Given the description of an element on the screen output the (x, y) to click on. 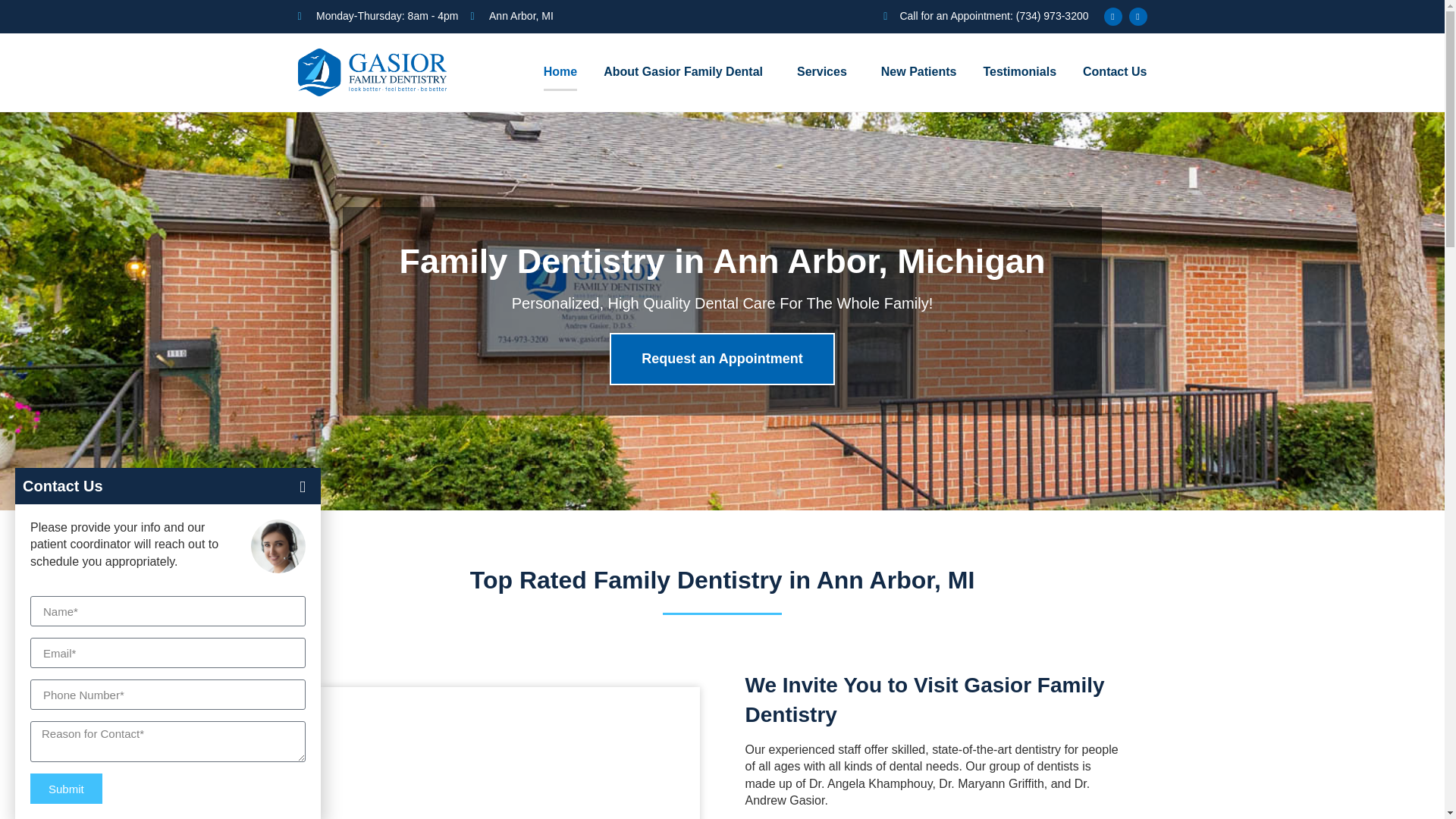
Testimonials (1019, 72)
Home (559, 72)
New Patients (918, 72)
About Gasior Family Dental (687, 72)
Services (825, 72)
Ann Arbor, MI (511, 16)
Contact Us (1115, 72)
